Given the description of an element on the screen output the (x, y) to click on. 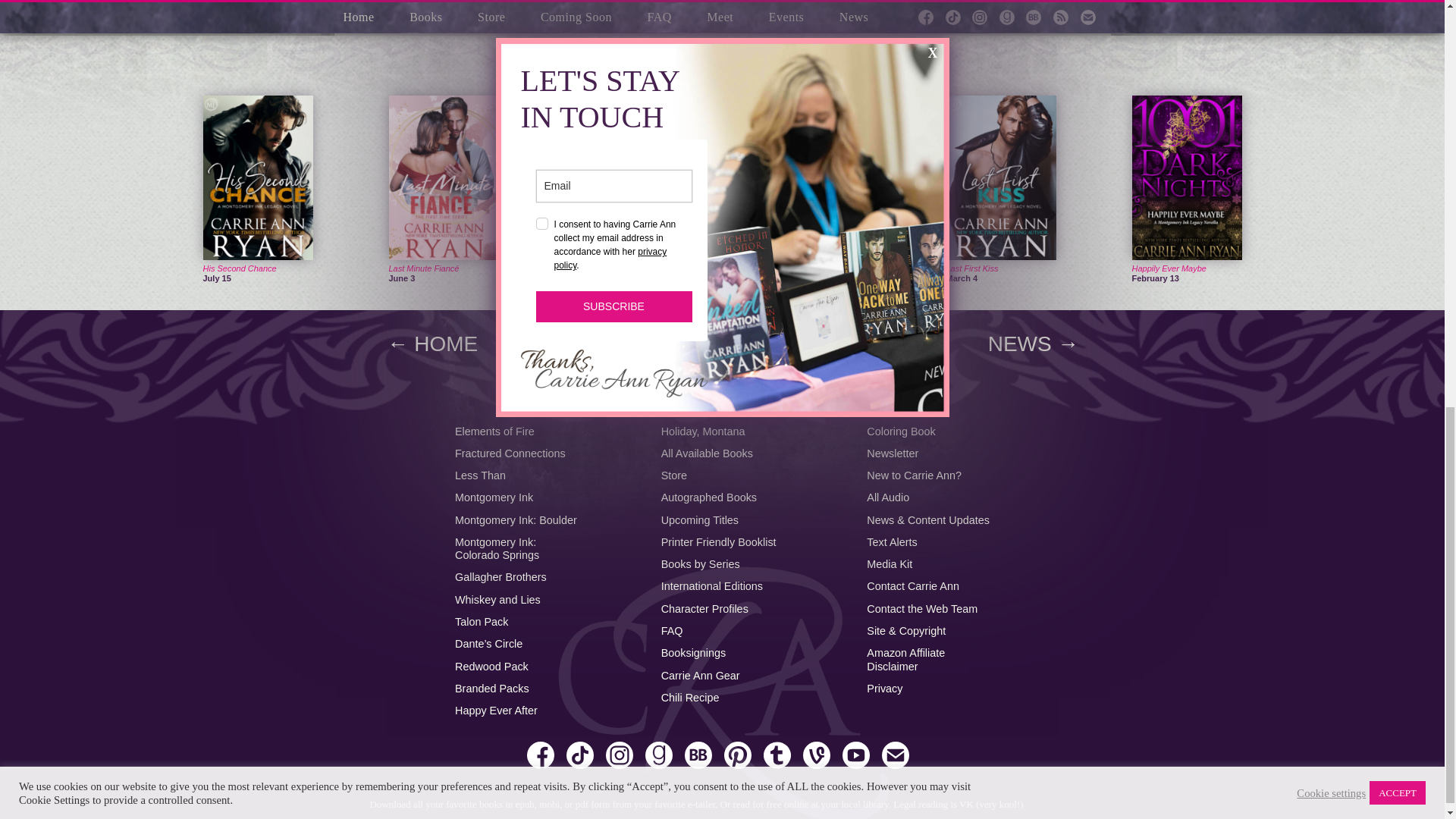
Search for: (721, 395)
SEARCH (721, 395)
His Second Chance (239, 267)
SEARCH (721, 395)
